Given the description of an element on the screen output the (x, y) to click on. 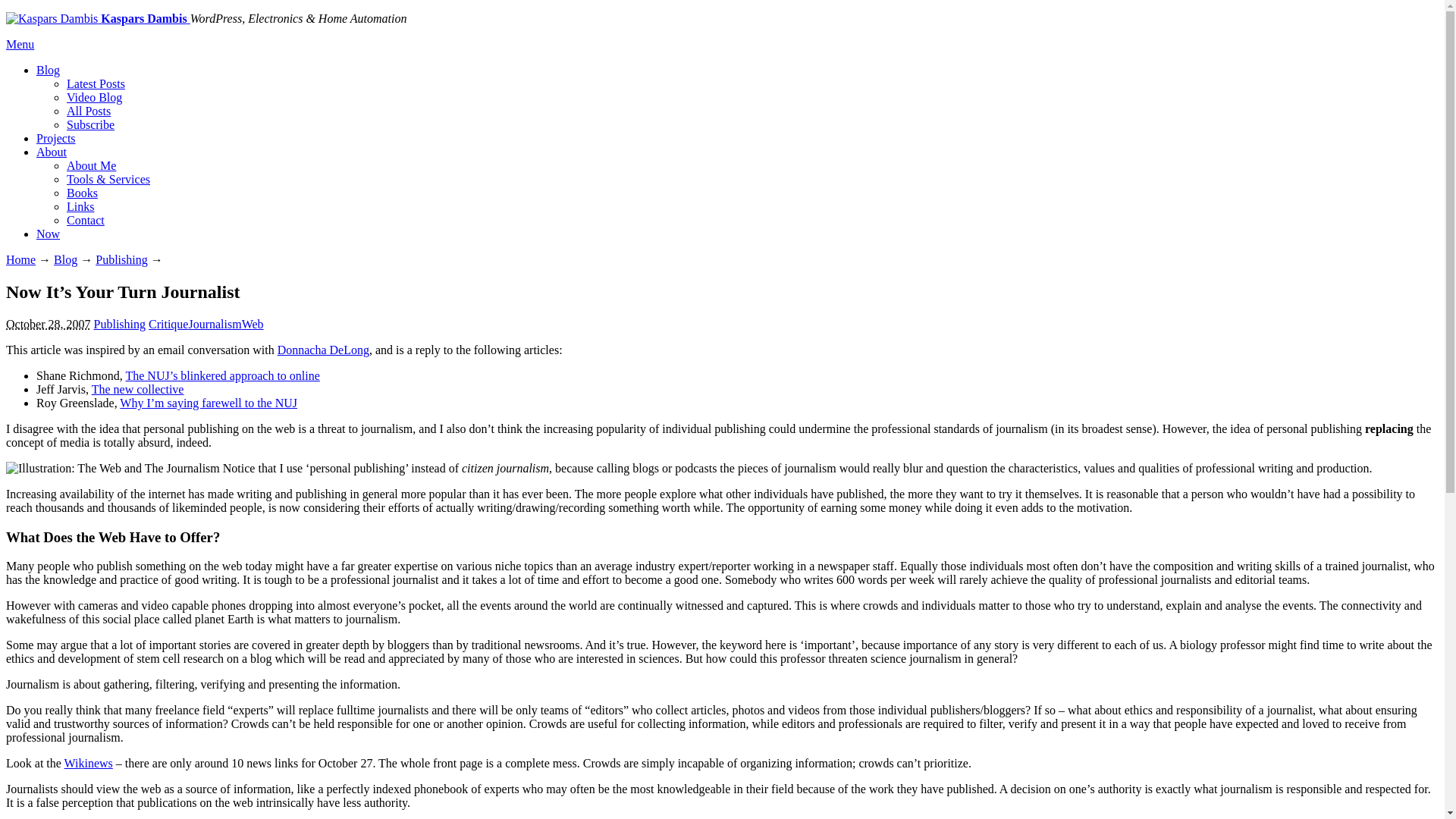
Kaspars Dambis (97, 18)
Contact (85, 219)
Donnacha DeLong (323, 349)
Home (19, 259)
Links (80, 205)
Web (252, 323)
All Posts (88, 110)
Kaspars Dambis (51, 18)
Blog About Web Design, WordPress and Performance (47, 69)
Wikinews (88, 762)
Latest Posts (95, 83)
Blog (65, 259)
Menu (19, 43)
Critique (167, 323)
Video Blog (94, 97)
